Given the description of an element on the screen output the (x, y) to click on. 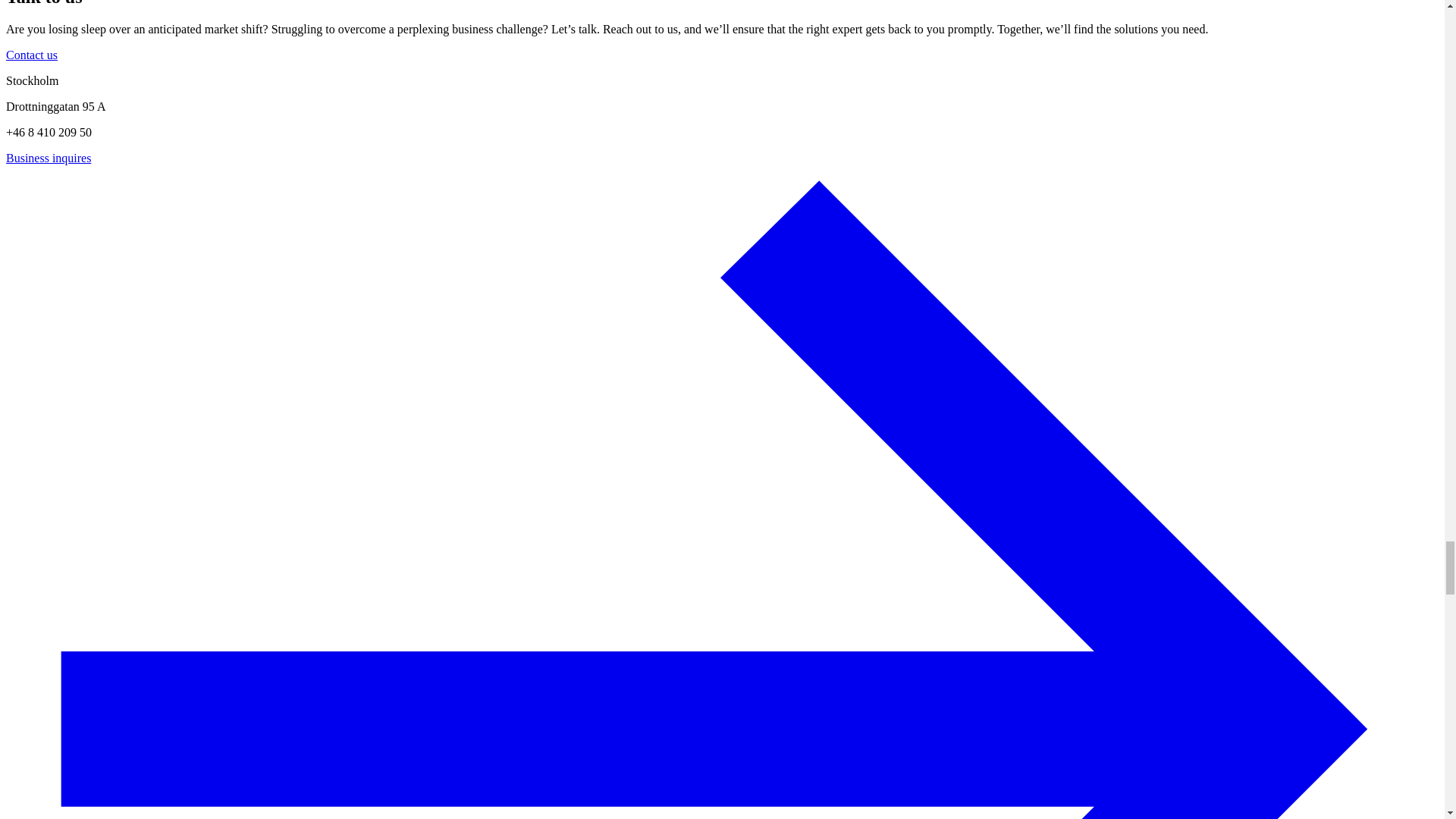
Contact us (31, 54)
